Given the description of an element on the screen output the (x, y) to click on. 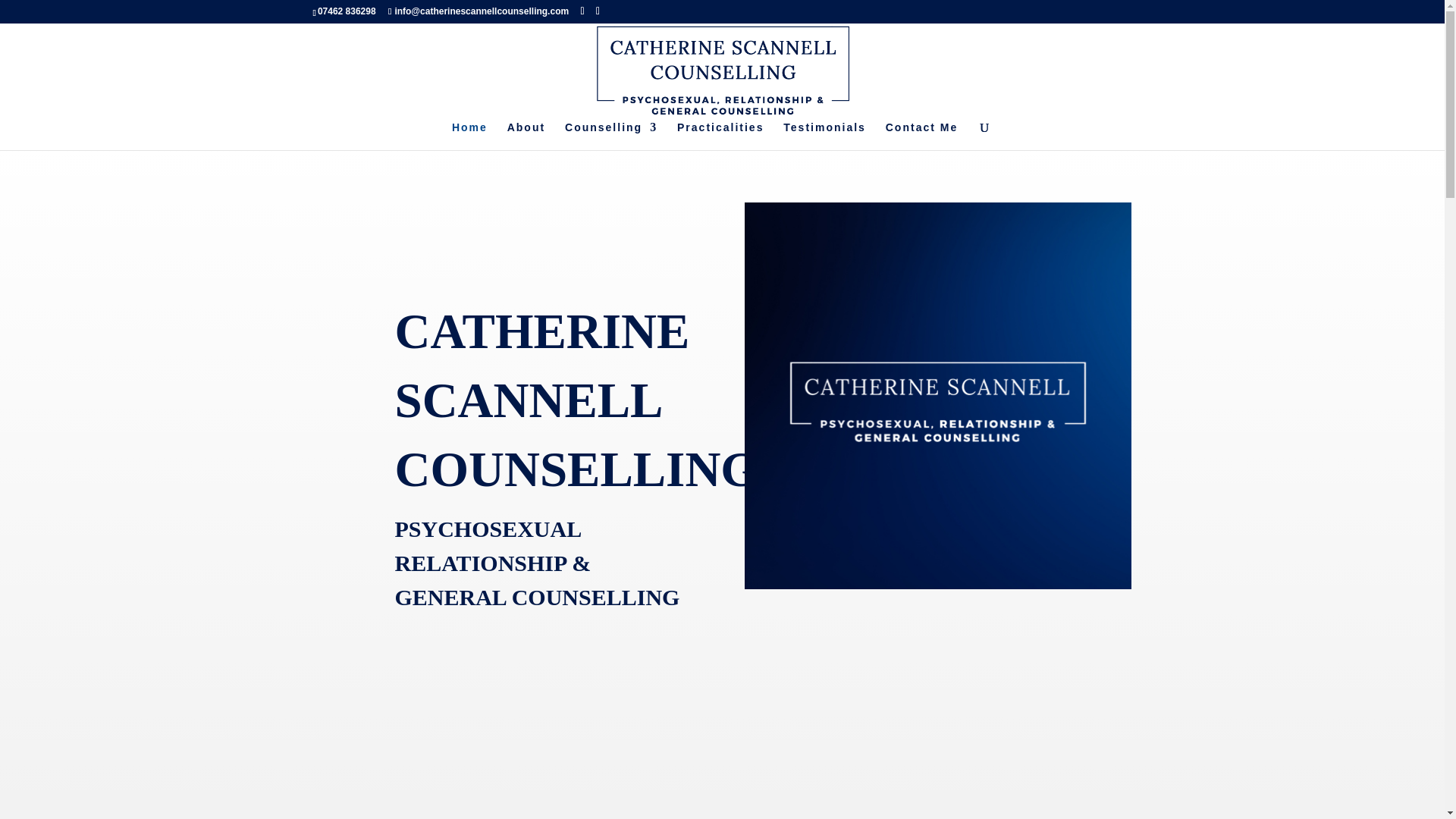
Counselling (611, 135)
Testimonials (824, 135)
Practicalities (719, 135)
About (525, 135)
Contact Me (921, 135)
Home (469, 135)
